Given the description of an element on the screen output the (x, y) to click on. 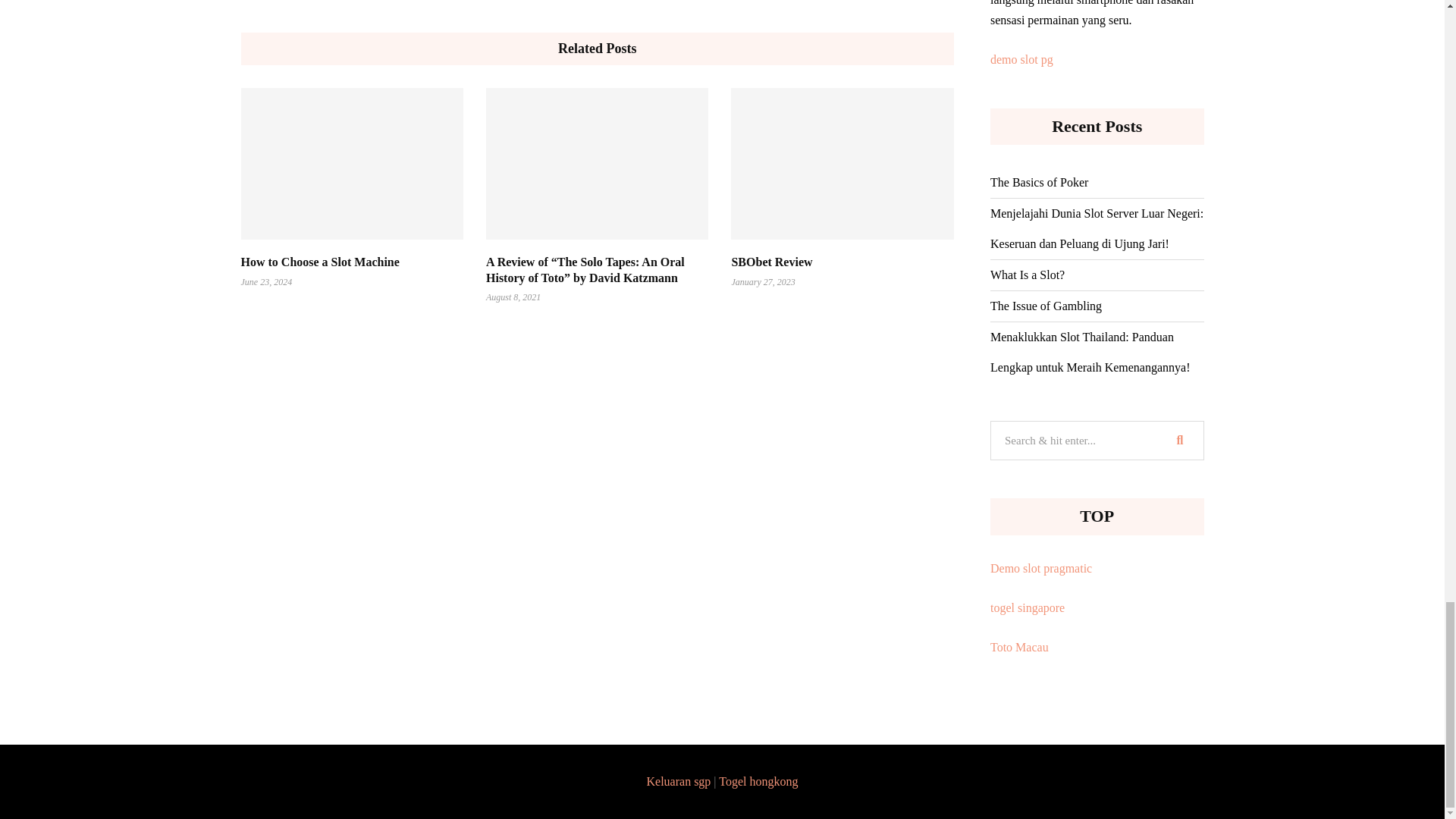
SBObet Review (771, 261)
How to Choose a Slot Machine (319, 261)
